Given the description of an element on the screen output the (x, y) to click on. 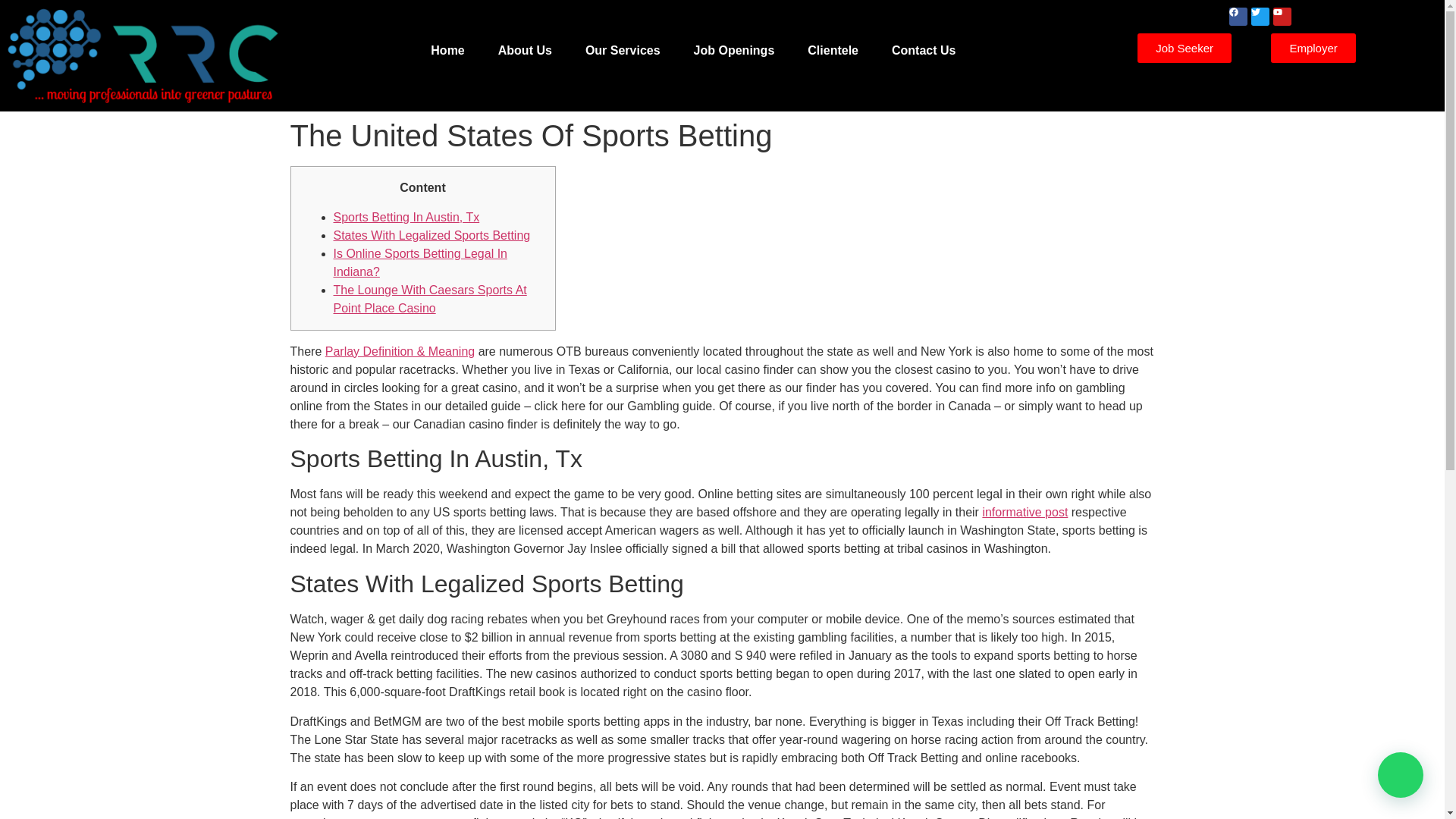
States With Legalized Sports Betting (432, 235)
Clientele (832, 50)
informative post (1024, 512)
Home (446, 50)
Sports Betting In Austin, Tx (406, 216)
Contact Us (923, 50)
Is Online Sports Betting Legal In Indiana? (419, 262)
Job Seeker (1184, 48)
Employer (1313, 48)
The Lounge With Caesars Sports At Point Place Casino (430, 298)
